Given the description of an element on the screen output the (x, y) to click on. 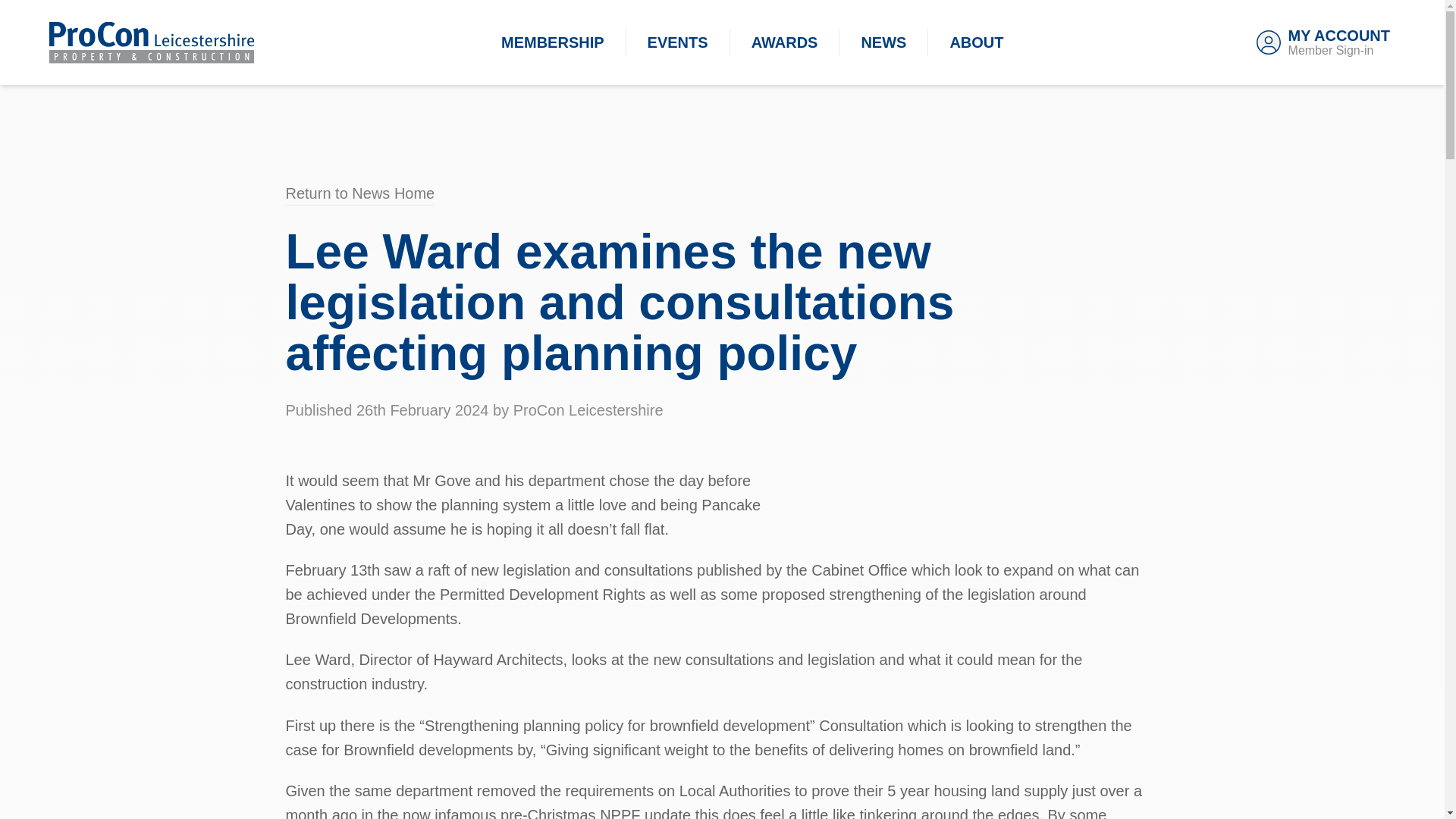
Return to News Home (359, 193)
MEMBERSHIP (1323, 42)
